Given the description of an element on the screen output the (x, y) to click on. 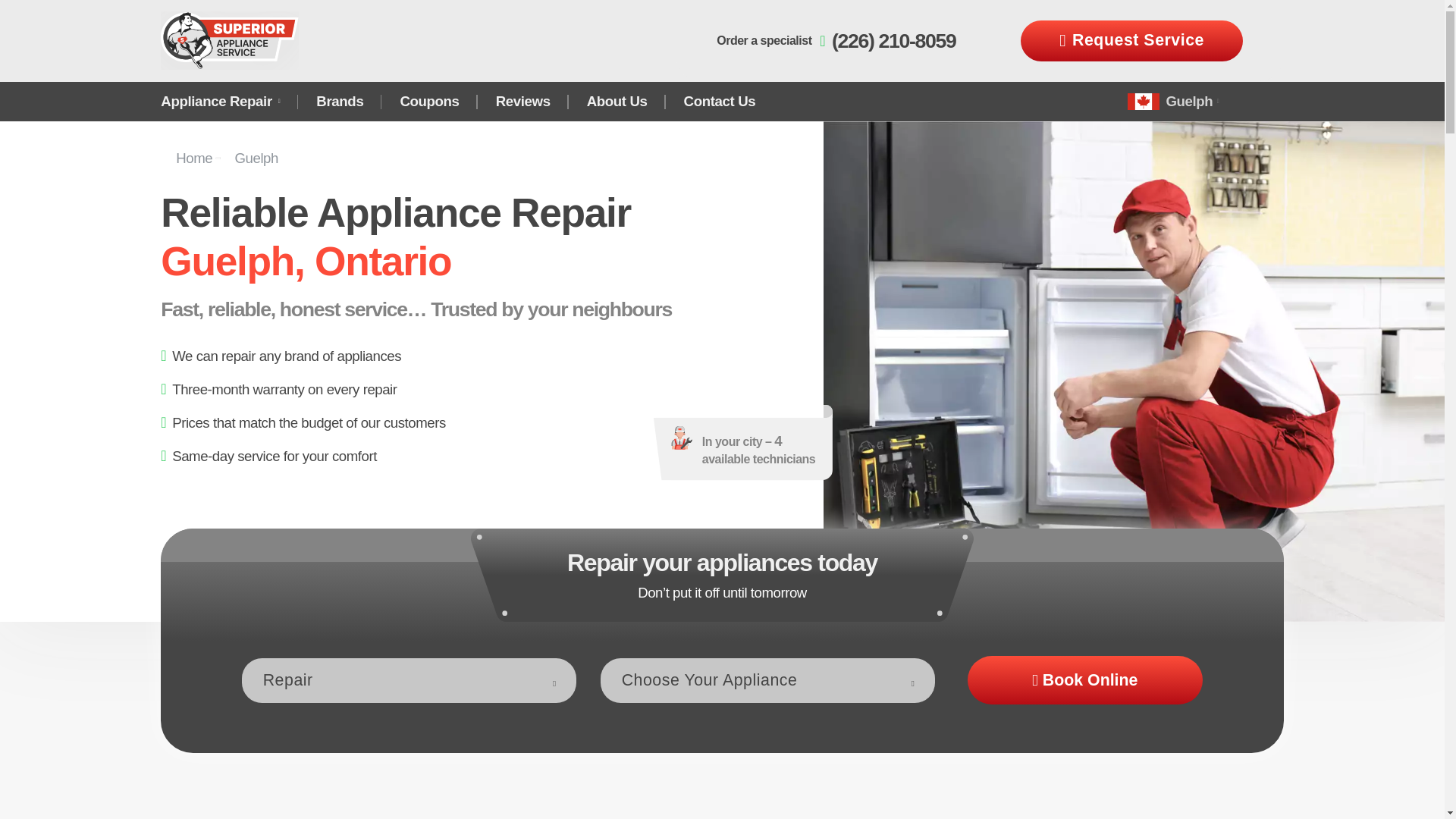
About Us (617, 101)
Request Service (1131, 40)
Contact Us (719, 101)
Book Online (1085, 680)
Coupons (429, 101)
Home (205, 156)
Reviews (523, 101)
Brands (339, 101)
